Given the description of an element on the screen output the (x, y) to click on. 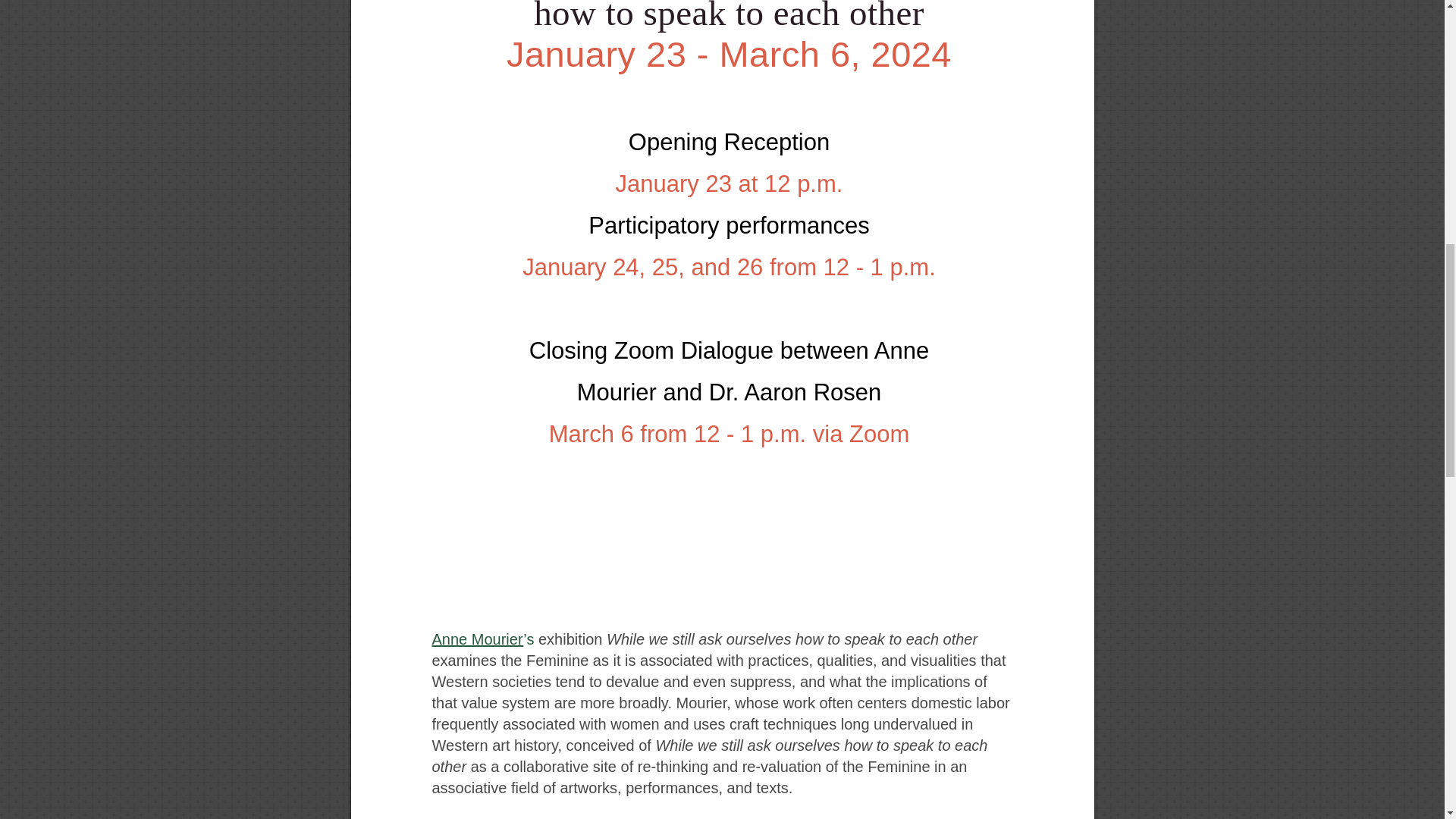
Anne Mourier (478, 638)
